Given the description of an element on the screen output the (x, y) to click on. 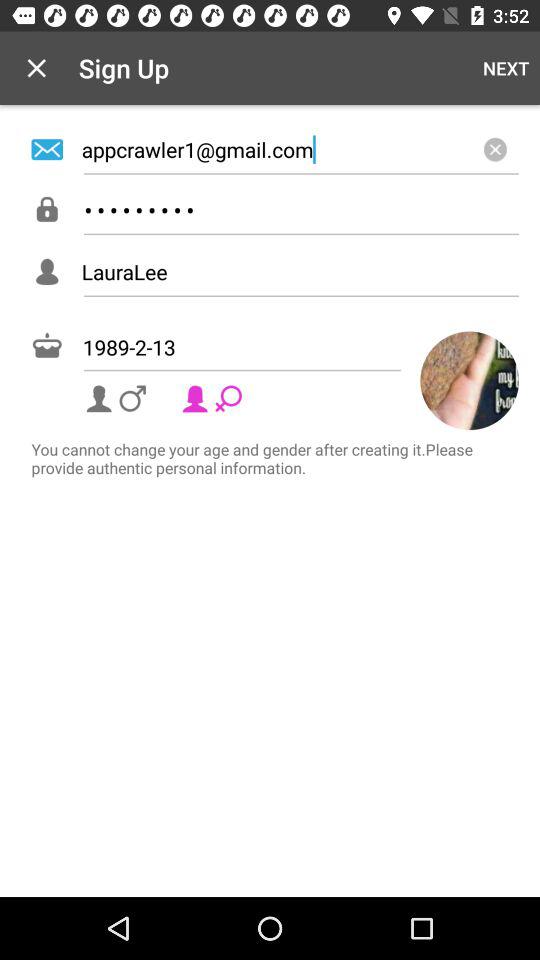
tap icon below the next item (300, 149)
